Given the description of an element on the screen output the (x, y) to click on. 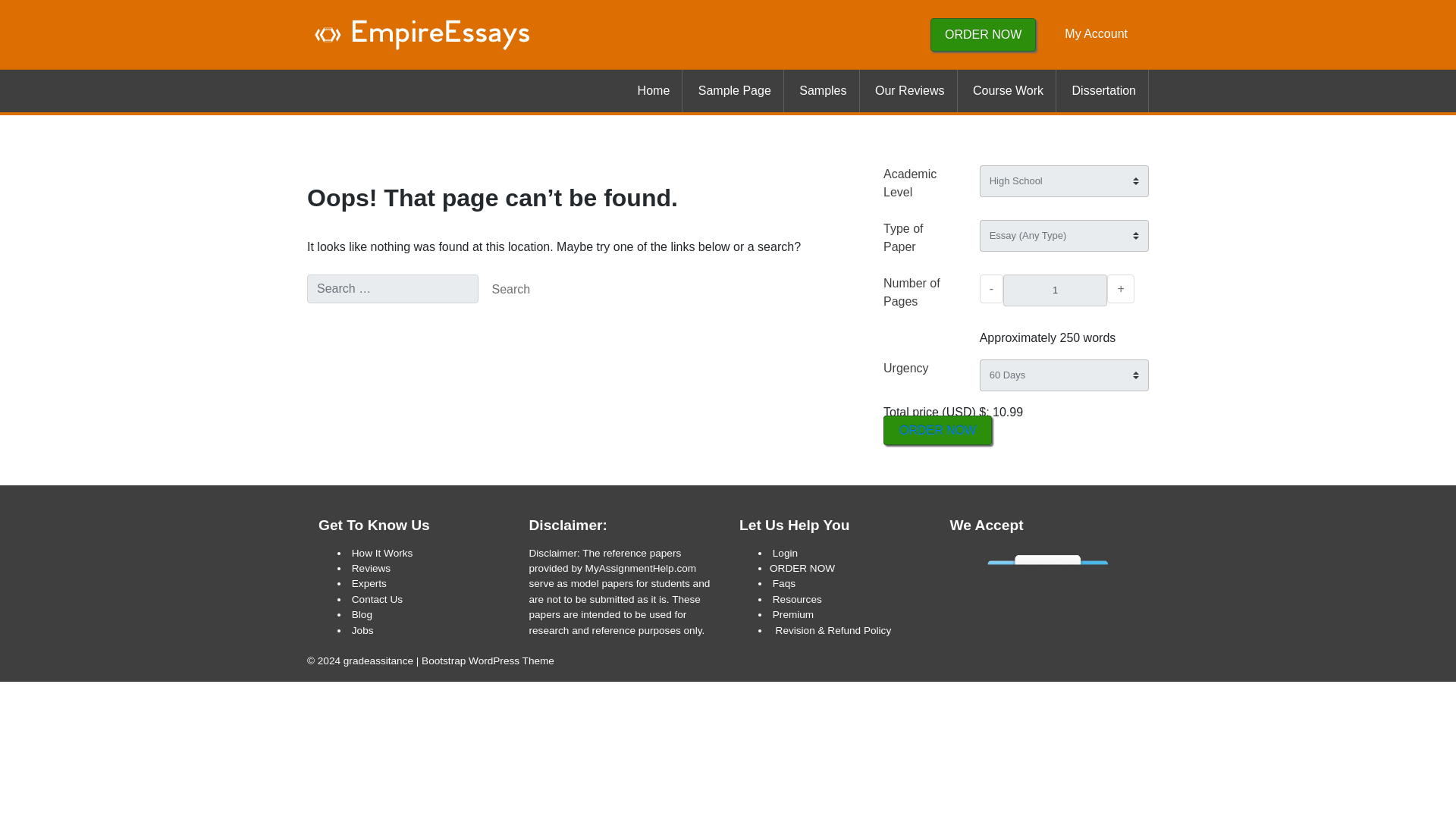
1 (1054, 290)
How It Works (382, 552)
Our Reviews (909, 90)
Sample Page (734, 90)
Jobs (363, 630)
ORDER NOW (983, 34)
My Account (1096, 33)
Bootstrap WordPress Theme (488, 660)
Premium (793, 614)
Samples (823, 90)
